Given the description of an element on the screen output the (x, y) to click on. 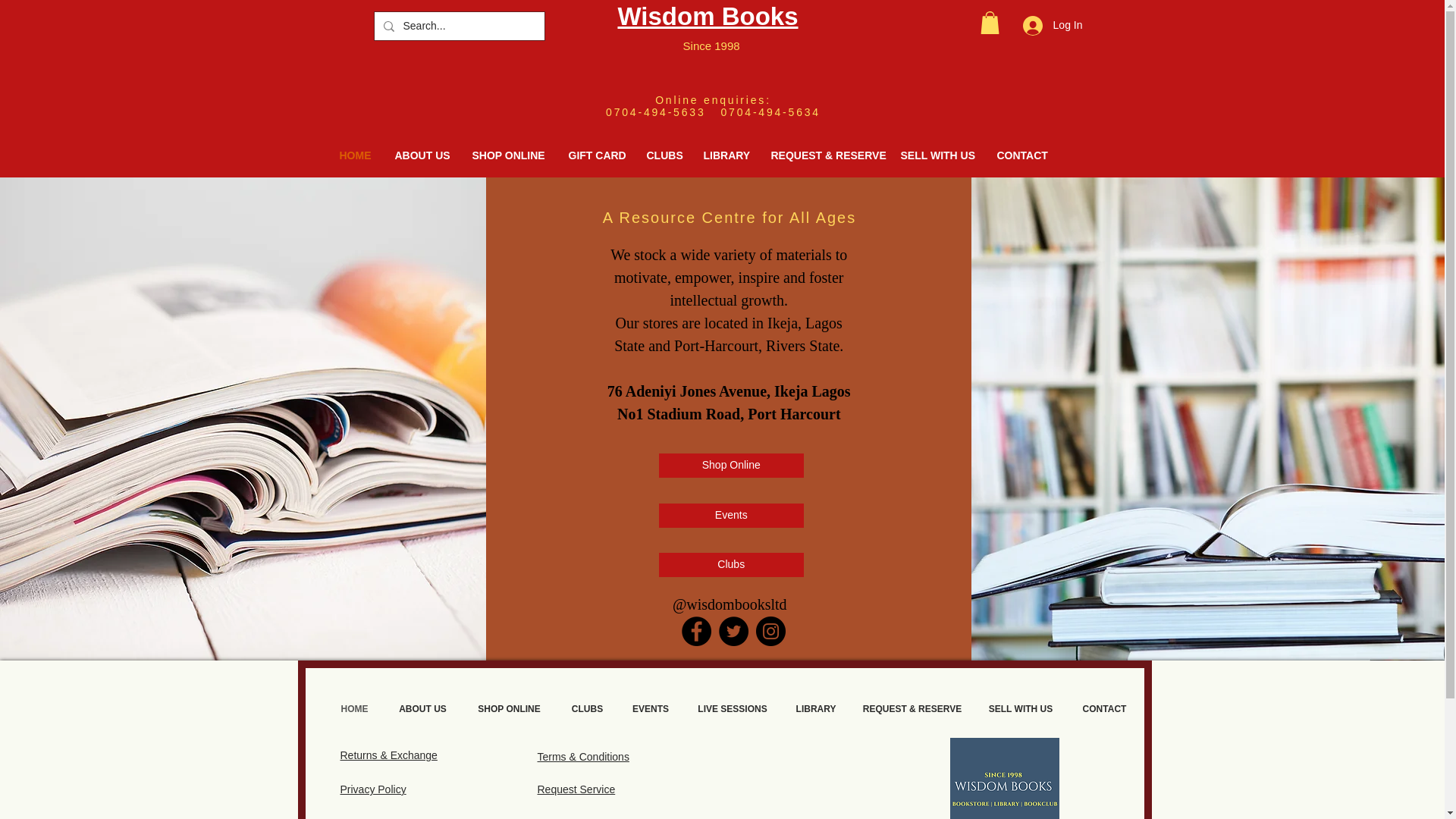
Shop Online (731, 465)
CONTACT (1021, 155)
Clubs (731, 564)
Log In (1052, 24)
GIFT CARD (595, 155)
Wisdom Books (707, 16)
HOME (354, 155)
SELL WITH US (936, 155)
Events (731, 515)
